Given the description of an element on the screen output the (x, y) to click on. 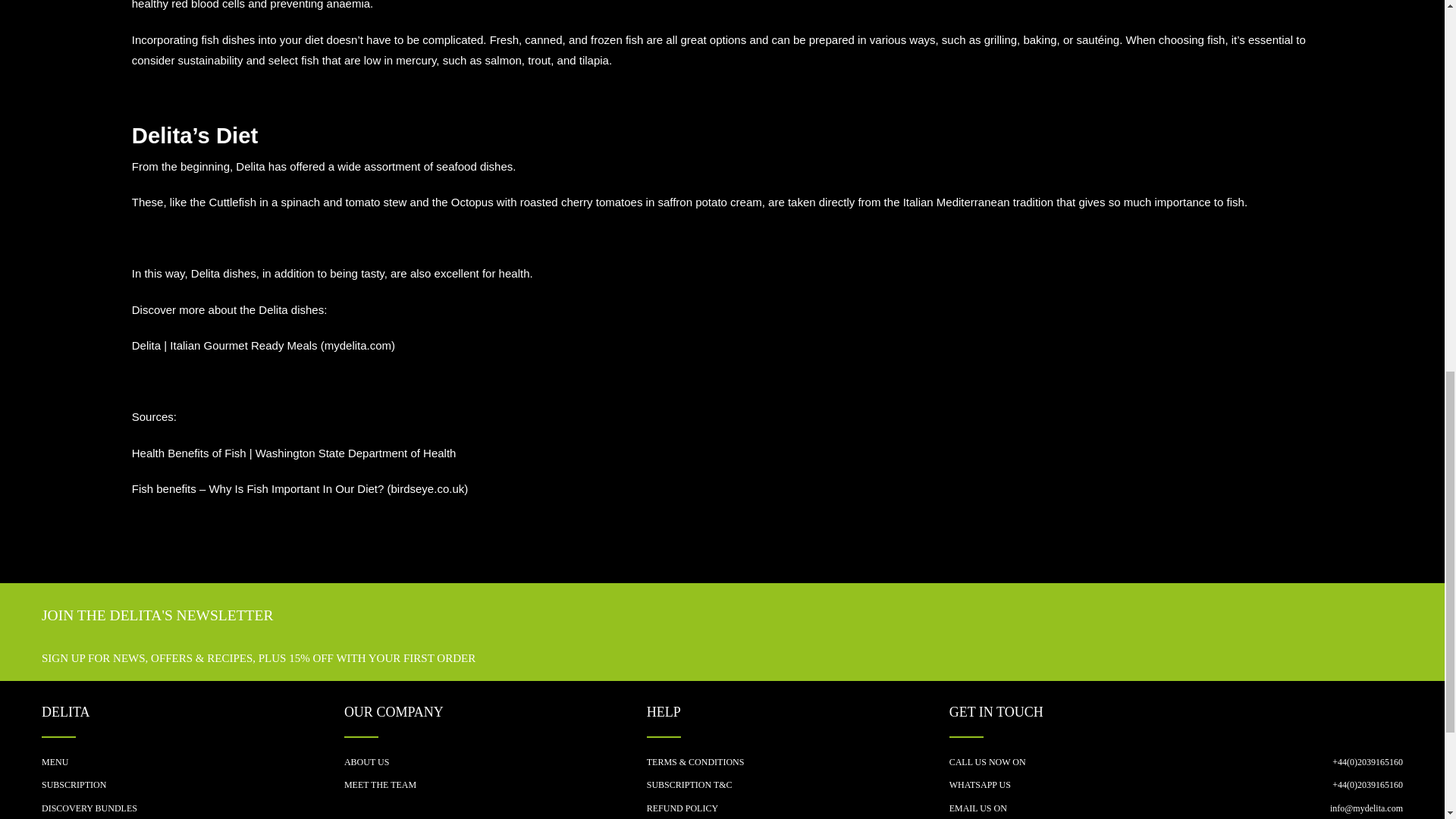
MEET THE TEAM (494, 788)
SUBSCRIPTION (192, 788)
REFUND POLICY (797, 809)
DISCOVERY BUNDLES (192, 809)
ABOUT US (494, 765)
MENU (192, 765)
